Given the description of an element on the screen output the (x, y) to click on. 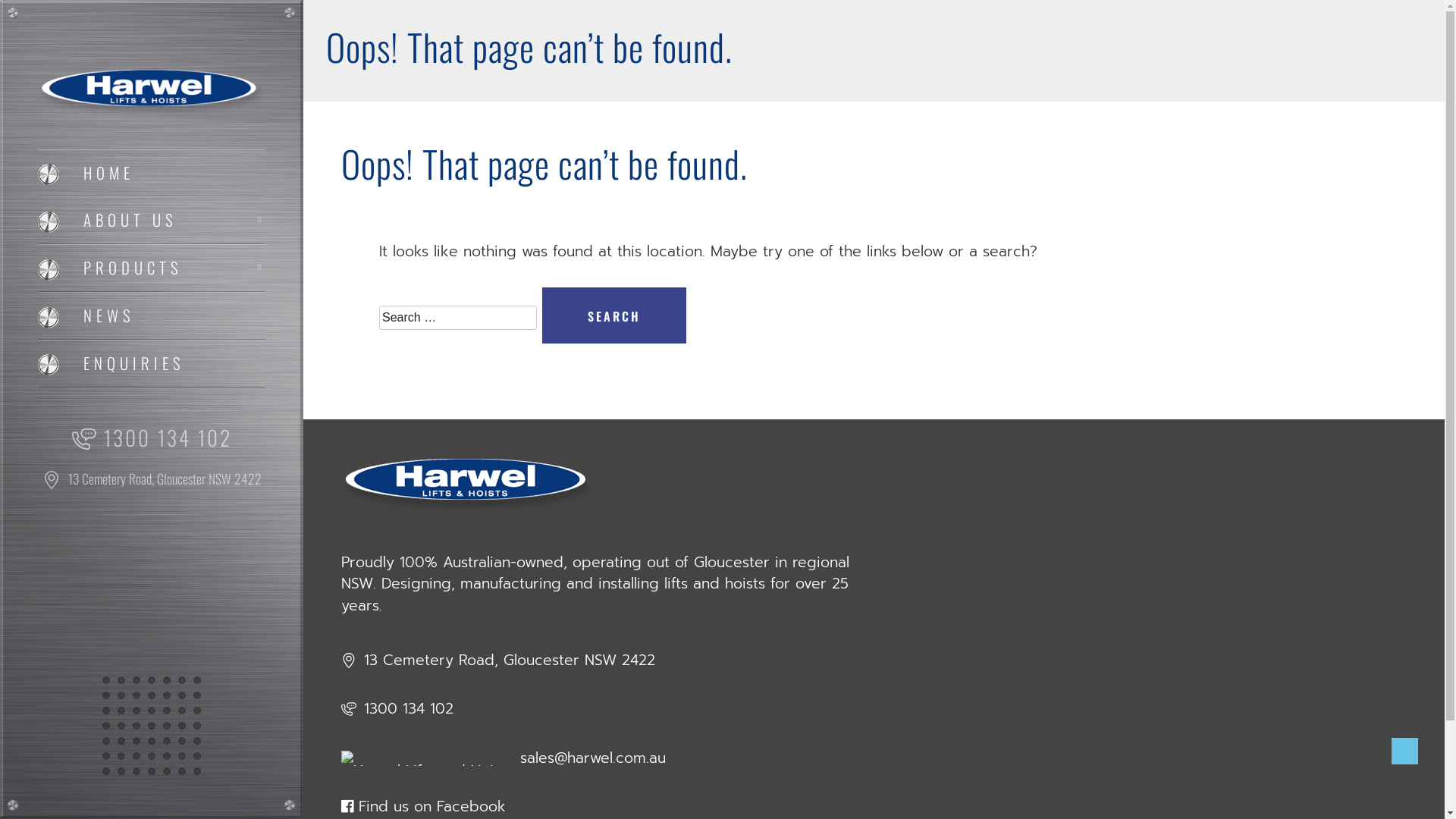
13 Cemetery Road, Gloucester NSW 2422 Element type: text (151, 478)
HOME Element type: text (151, 173)
Search Element type: text (614, 315)
1300 134 102 Element type: text (397, 708)
13 Cemetery Road, Gloucester NSW 2422 Element type: text (498, 660)
PRODUCTS Element type: text (151, 267)
ENQUIRIES Element type: text (151, 363)
1300 134 102 Element type: text (151, 438)
ABOUT US Element type: text (151, 220)
NEWS Element type: text (151, 315)
sales@harwel.com.au Element type: text (503, 757)
